Given the description of an element on the screen output the (x, y) to click on. 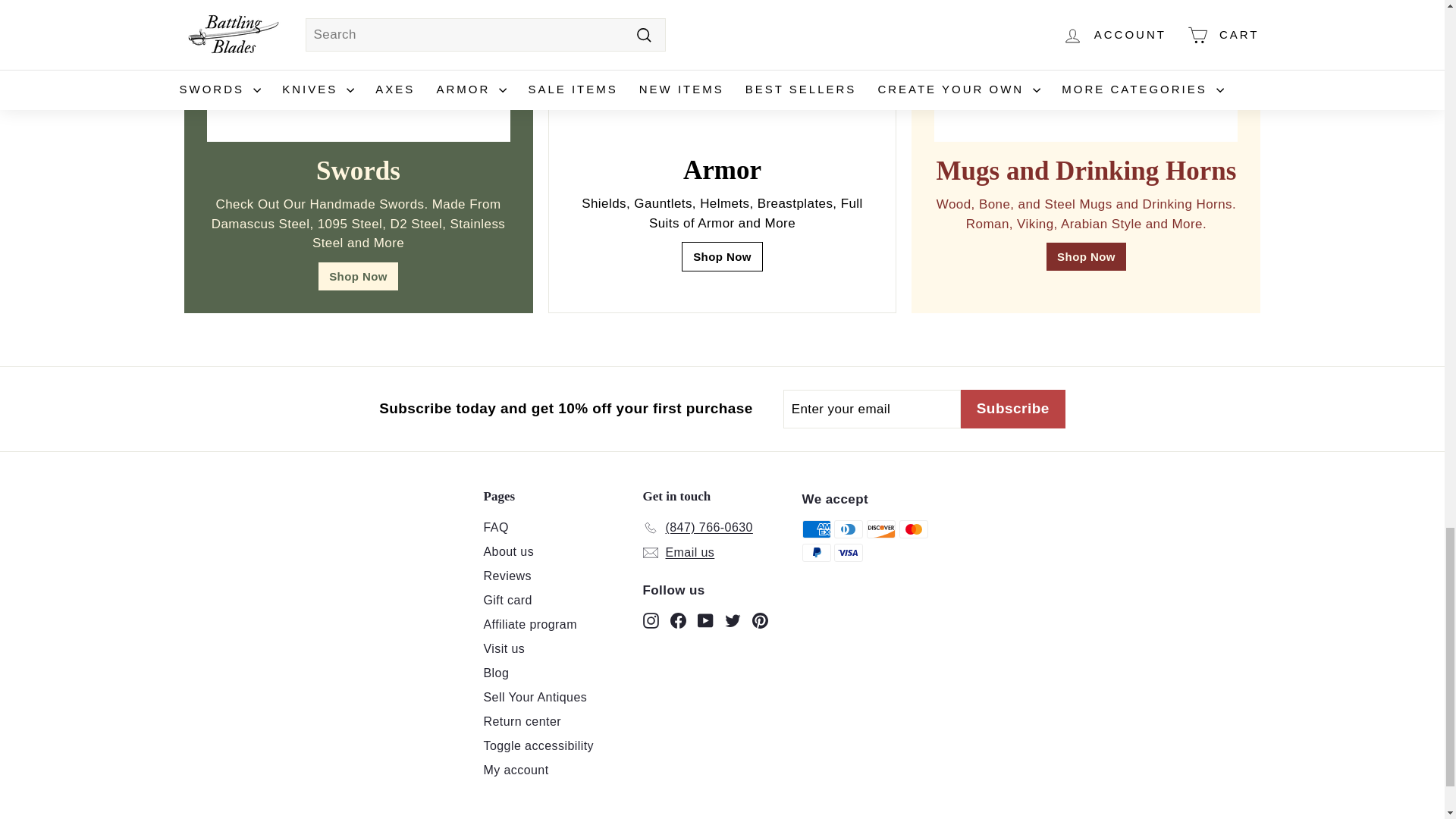
American Express (816, 529)
instagram (651, 620)
twitter (733, 620)
